Given the description of an element on the screen output the (x, y) to click on. 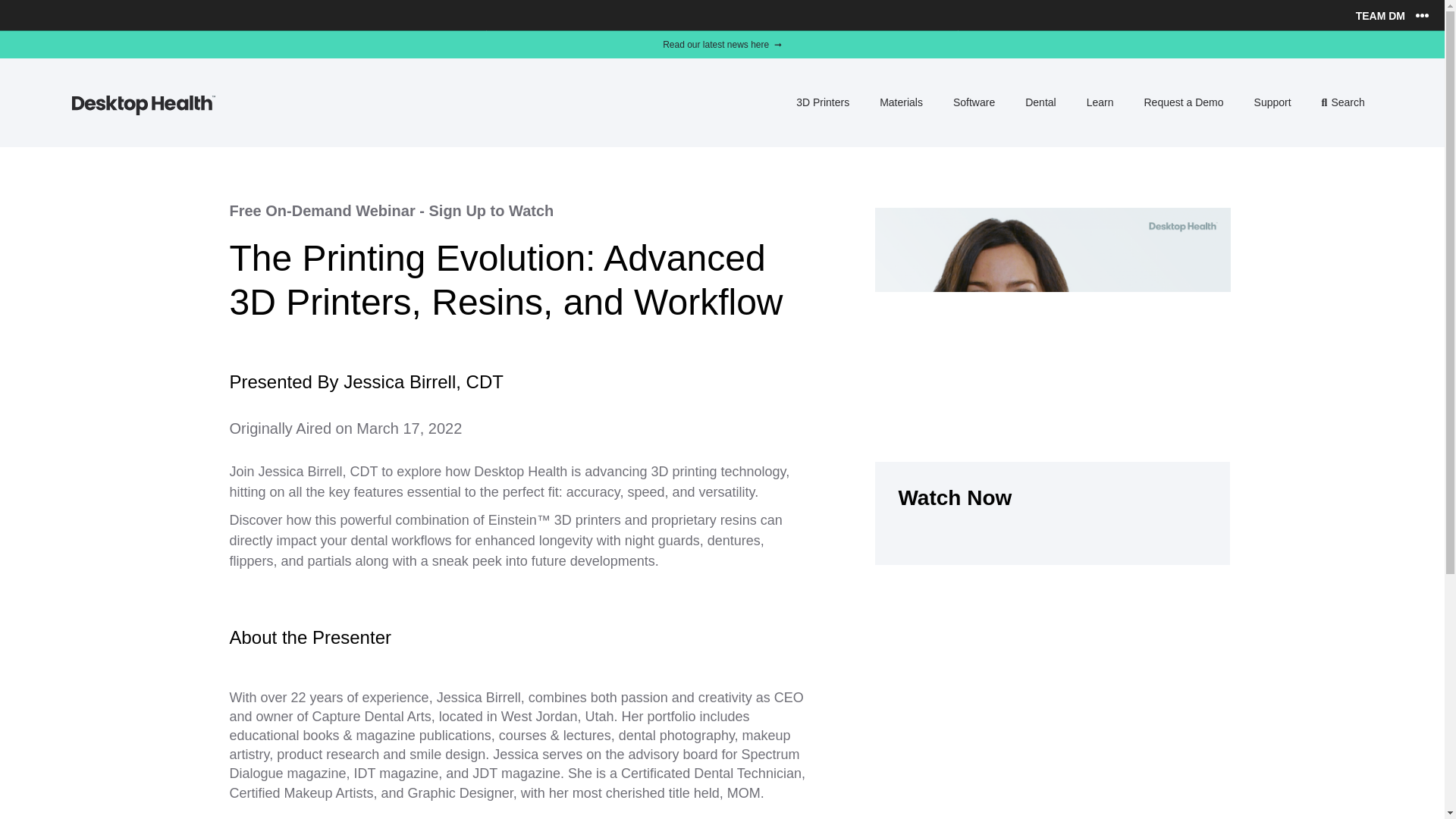
Dental (1039, 102)
Materials (901, 102)
Search (1343, 102)
Support (1272, 102)
Learn (1099, 102)
Request a Demo (1182, 102)
3D Printers (1052, 313)
Desktop Health - Home (143, 111)
Software (973, 102)
3D Printers (823, 102)
